Given the description of an element on the screen output the (x, y) to click on. 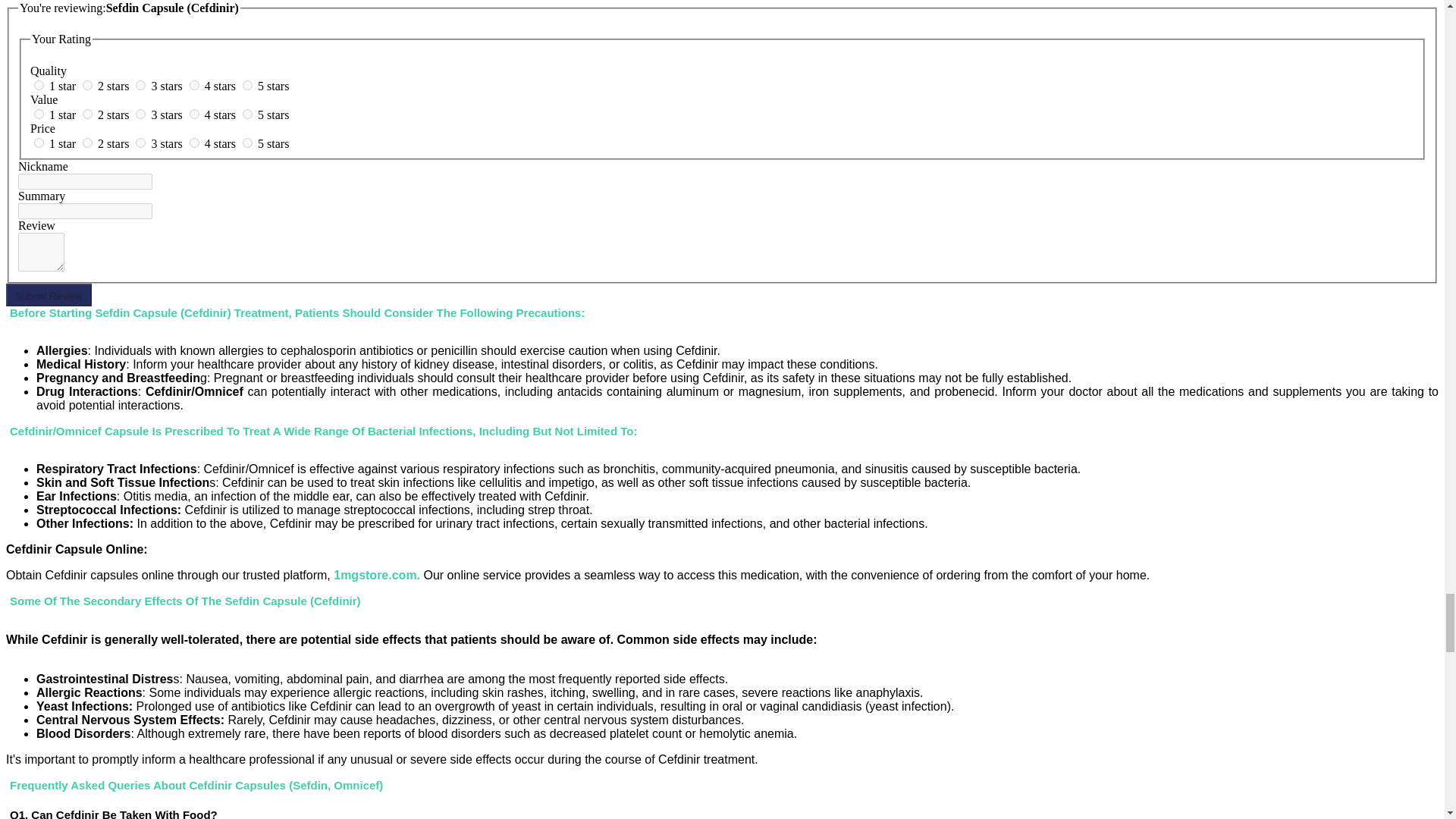
1 star (63, 85)
8 (140, 113)
3 stars (167, 114)
11 (38, 143)
3 stars (167, 143)
3 stars (167, 85)
6 (38, 113)
2 (87, 85)
10 (247, 113)
1 star (63, 143)
1 star (63, 114)
3 (140, 85)
12 (87, 143)
9 (194, 113)
2 stars (114, 143)
